Given the description of an element on the screen output the (x, y) to click on. 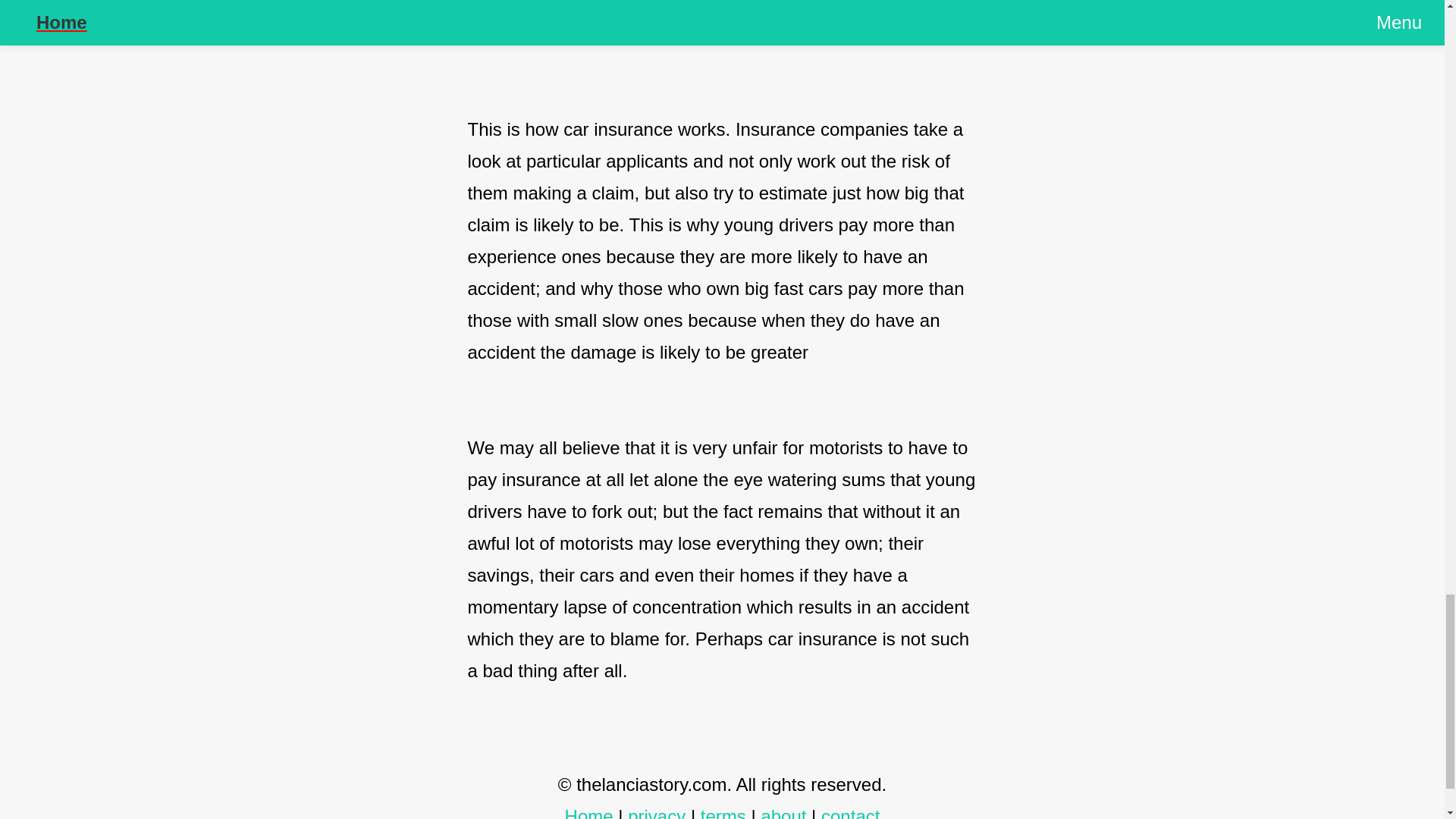
terms (722, 812)
privacy (656, 812)
Home (588, 812)
about (783, 812)
contact (850, 812)
